Given the description of an element on the screen output the (x, y) to click on. 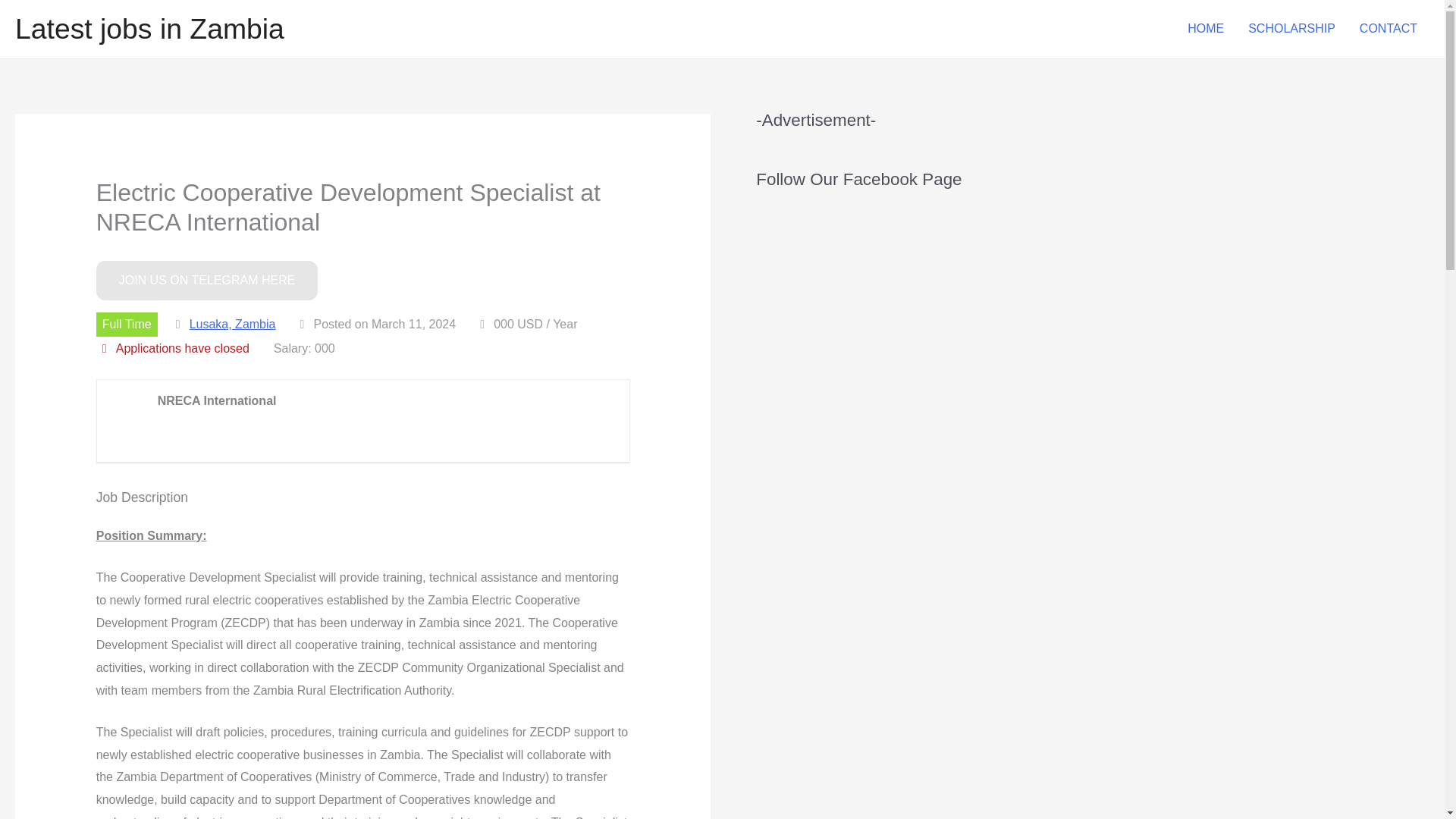
CONTACT (1388, 28)
HOME (1205, 28)
Follow Our Facebook Page (862, 316)
SCHOLARSHIP (1292, 28)
Latest jobs in Zambia (148, 29)
